Given the description of an element on the screen output the (x, y) to click on. 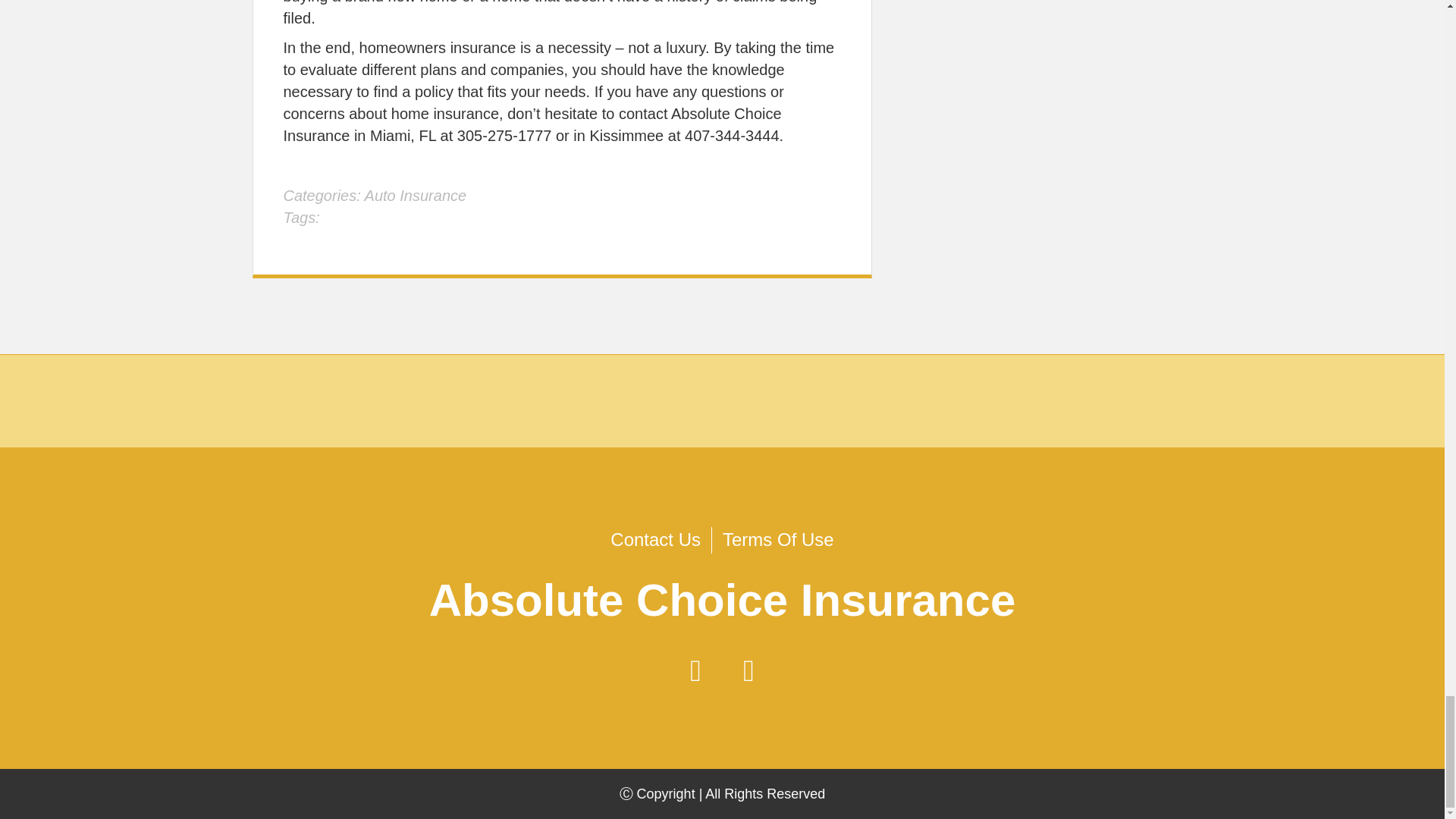
Terms Of Use (777, 540)
Auto Insurance (416, 195)
LinkedIn (748, 669)
Contact Us (655, 540)
Facebook (695, 669)
